Given the description of an element on the screen output the (x, y) to click on. 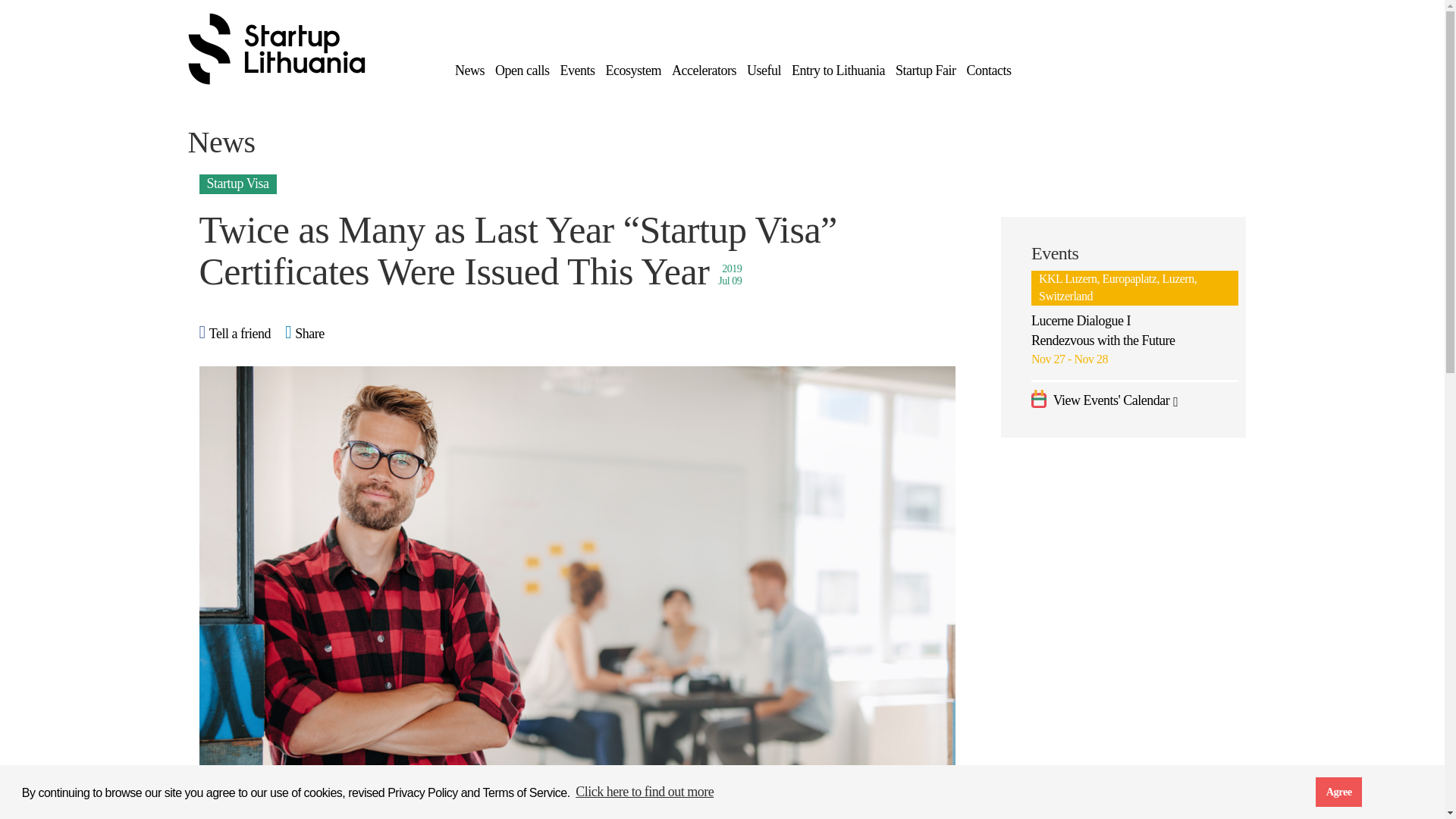
Startup Fair (925, 70)
Ecosystem (633, 70)
Useful (763, 70)
Events (576, 70)
News (469, 70)
Contacts (988, 70)
Agree (1338, 791)
Open calls (521, 70)
Accelerators (703, 70)
Click here to find out more (644, 791)
Entry to Lithuania (838, 70)
